Given the description of an element on the screen output the (x, y) to click on. 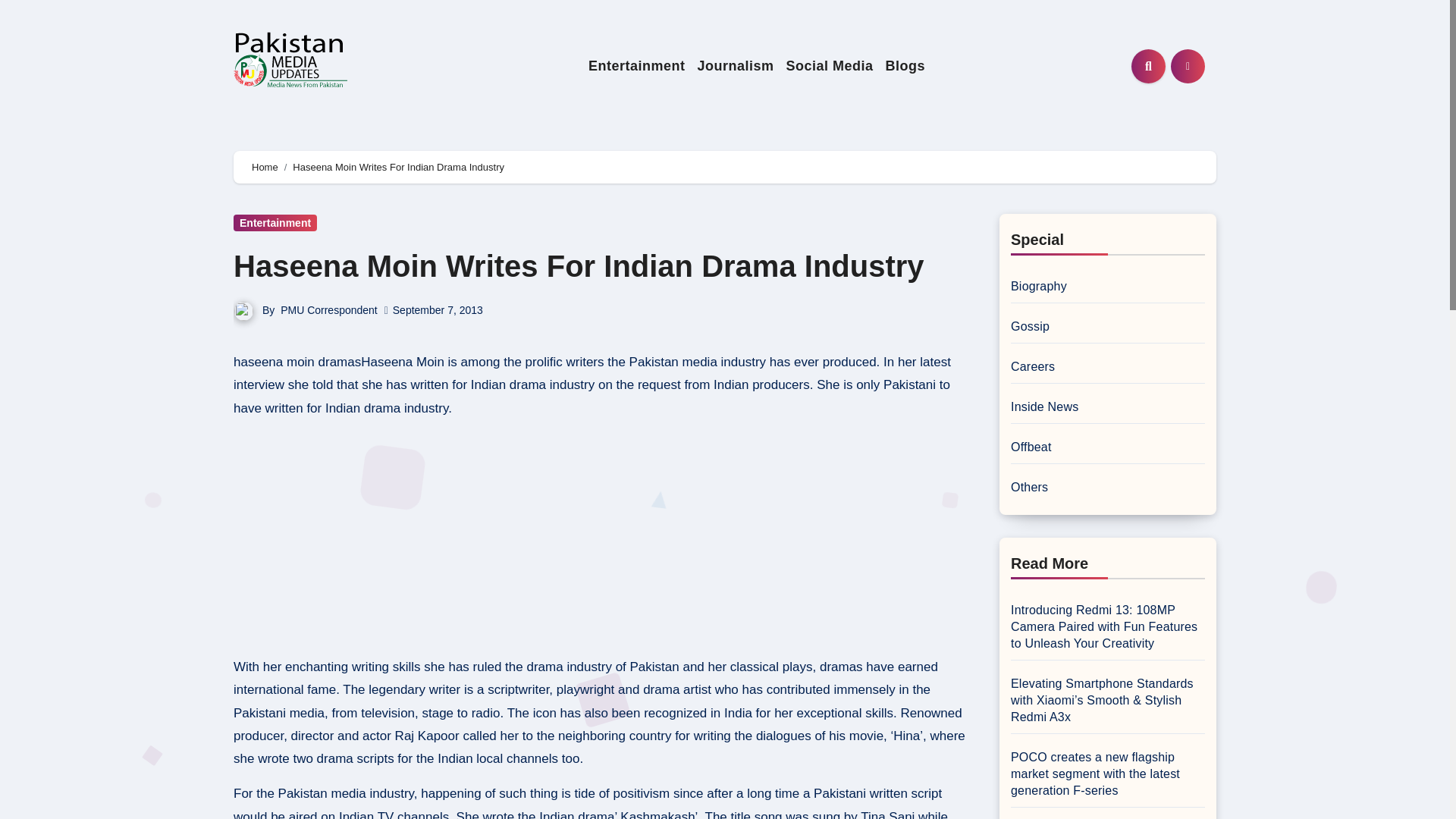
Entertainment (636, 66)
Social Media (828, 66)
Journalism (734, 66)
PMU Correspondent (329, 309)
Blogs (905, 66)
September 7, 2013 (438, 309)
Entertainment (636, 66)
Social Media (828, 66)
Blogs (905, 66)
Home (264, 166)
Haseena Moin Writes For Indian Drama Industry (578, 265)
Advertisement (601, 538)
Permalink to: Haseena Moin Writes For Indian Drama Industry (578, 265)
Journalism (734, 66)
Entertainment (274, 222)
